Given the description of an element on the screen output the (x, y) to click on. 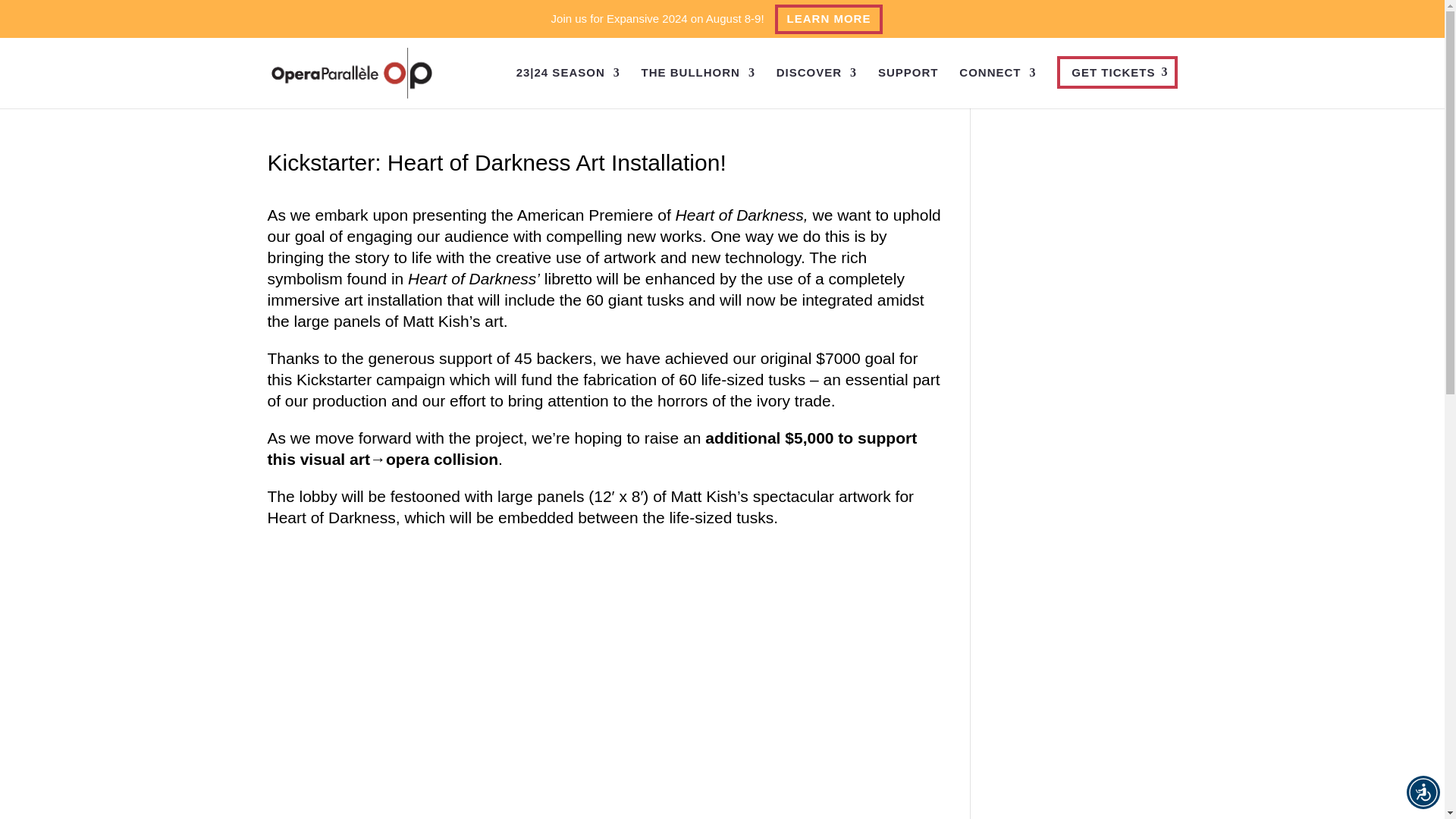
DISCOVER (816, 86)
LEARN MORE (828, 19)
CONNECT (997, 86)
SUPPORT (908, 86)
Accessibility Menu (1422, 792)
THE BULLHORN (698, 86)
